Given the description of an element on the screen output the (x, y) to click on. 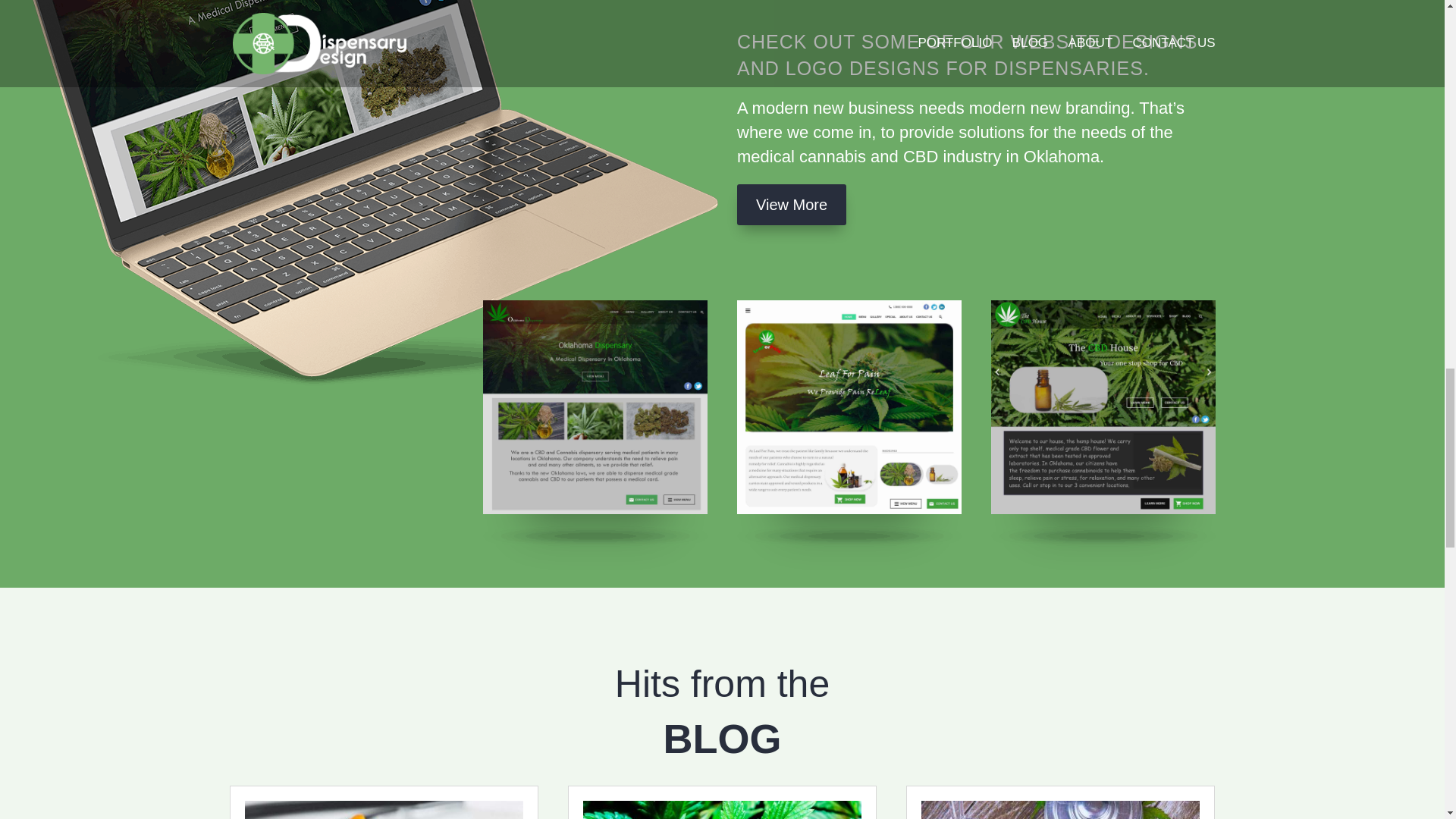
View More (790, 204)
